Given the description of an element on the screen output the (x, y) to click on. 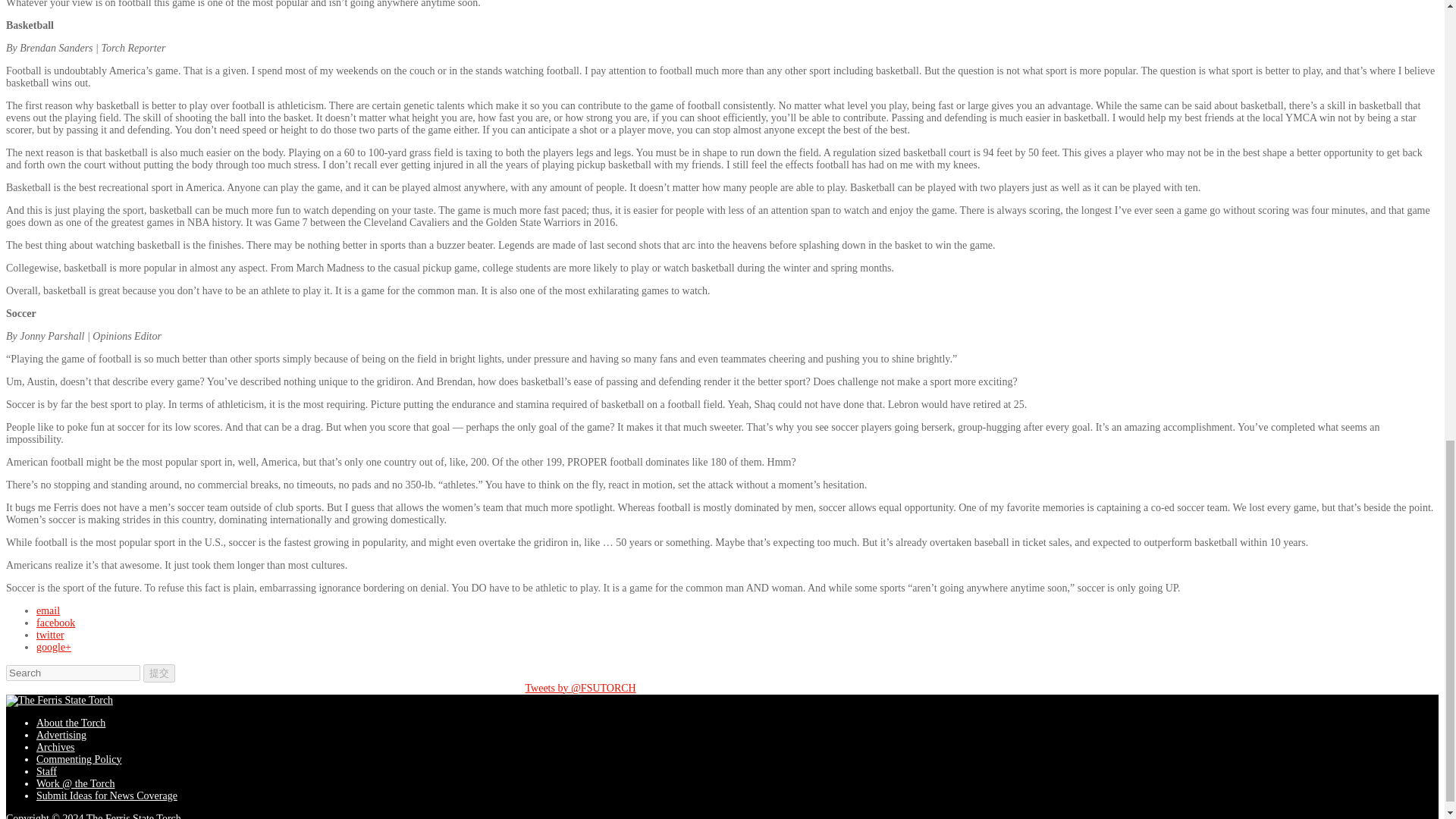
facebook (55, 622)
email (47, 610)
The Ferris State Torch (59, 700)
